Given the description of an element on the screen output the (x, y) to click on. 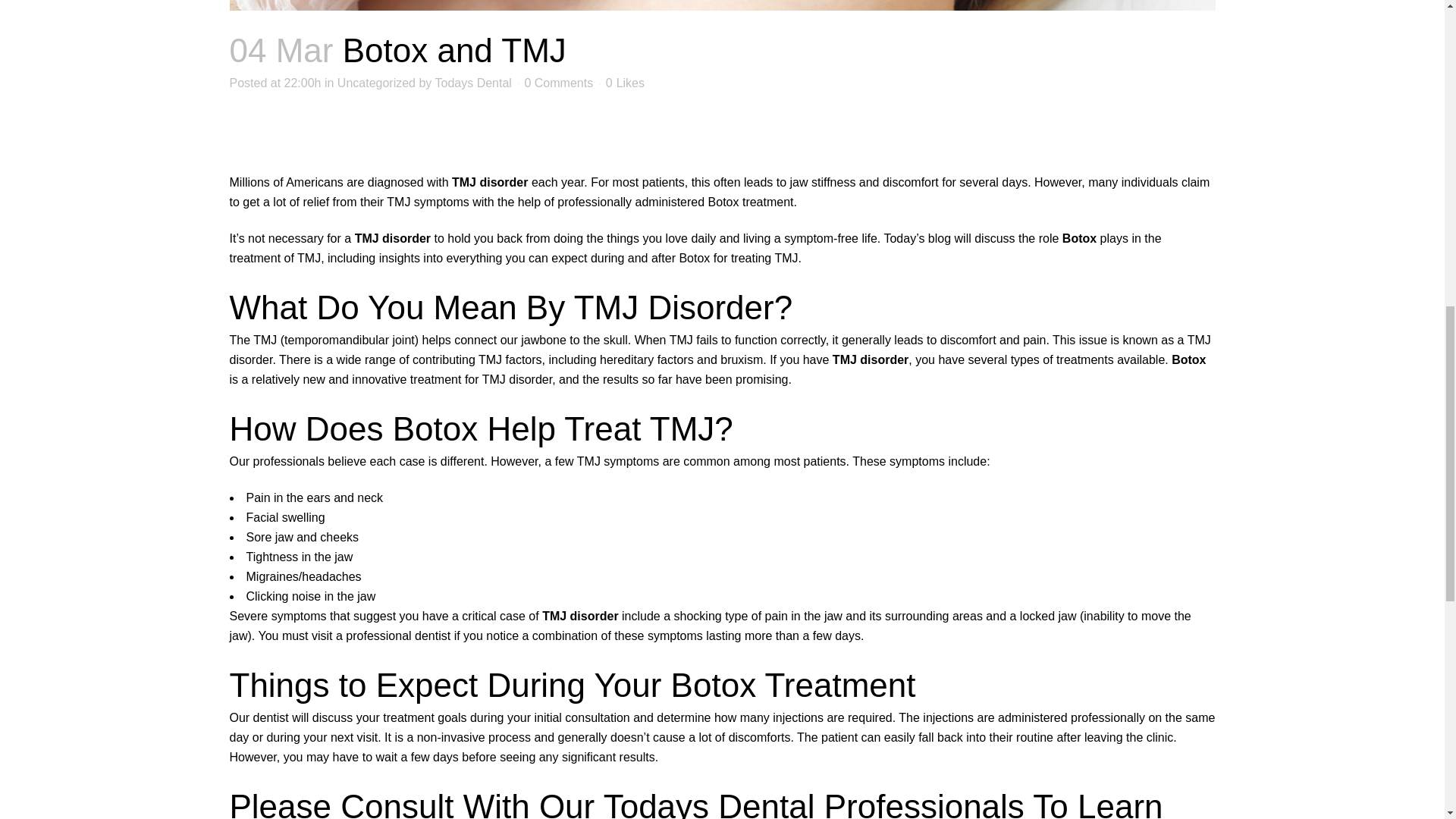
Like this (625, 82)
